Given the description of an element on the screen output the (x, y) to click on. 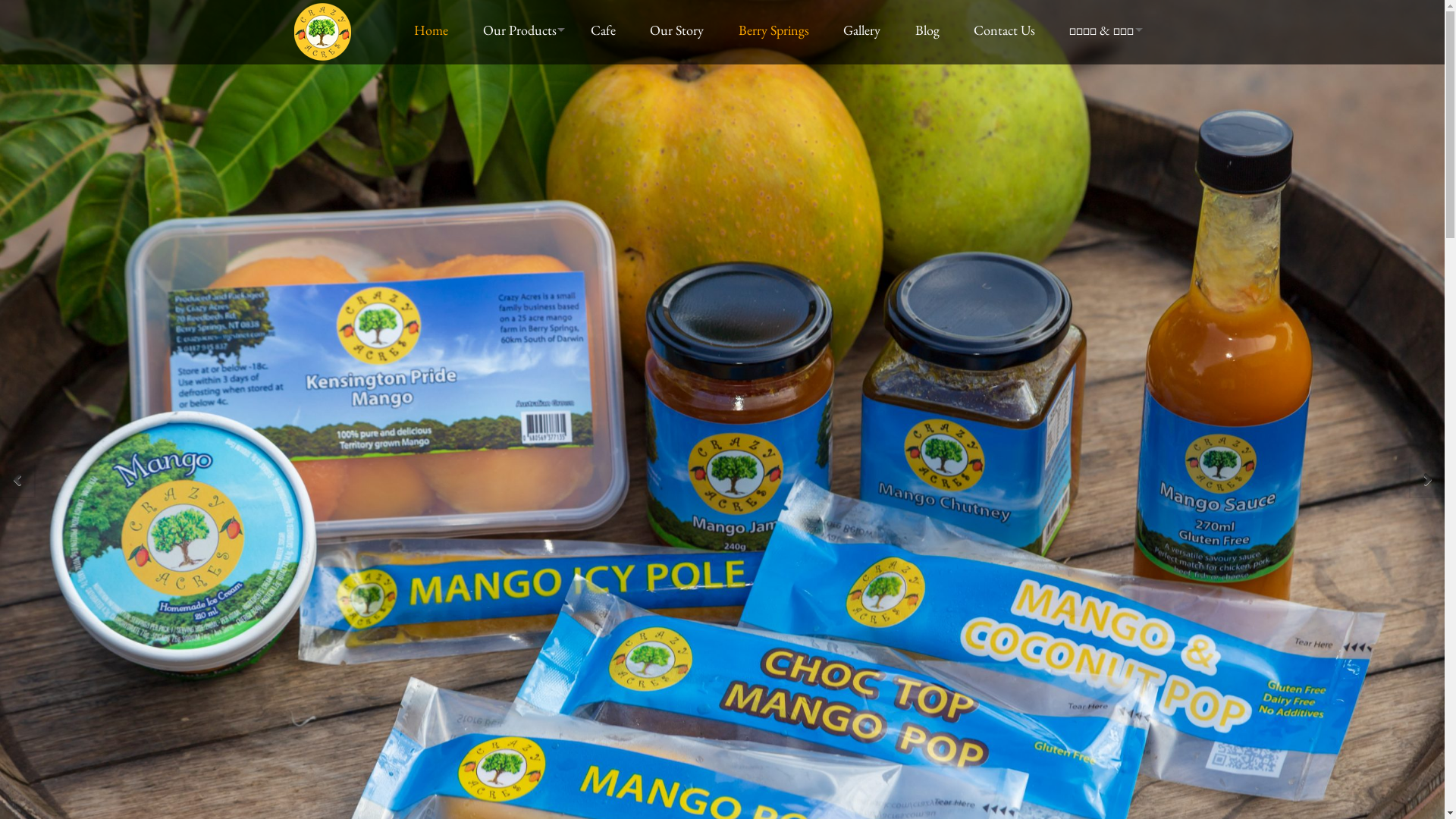
Home Element type: text (434, 29)
Our Story Element type: text (680, 29)
Contact Us Element type: text (1007, 29)
Blog Element type: text (929, 29)
Gallery Element type: text (864, 29)
Previous Element type: text (17, 479)
Homemade jams, sauces, local honey, frozen mango products Element type: hover (322, 55)
Next Element type: text (1427, 479)
Our Products Element type: text (523, 29)
Cafe Element type: text (606, 29)
Berry Springs Element type: text (776, 29)
